Given the description of an element on the screen output the (x, y) to click on. 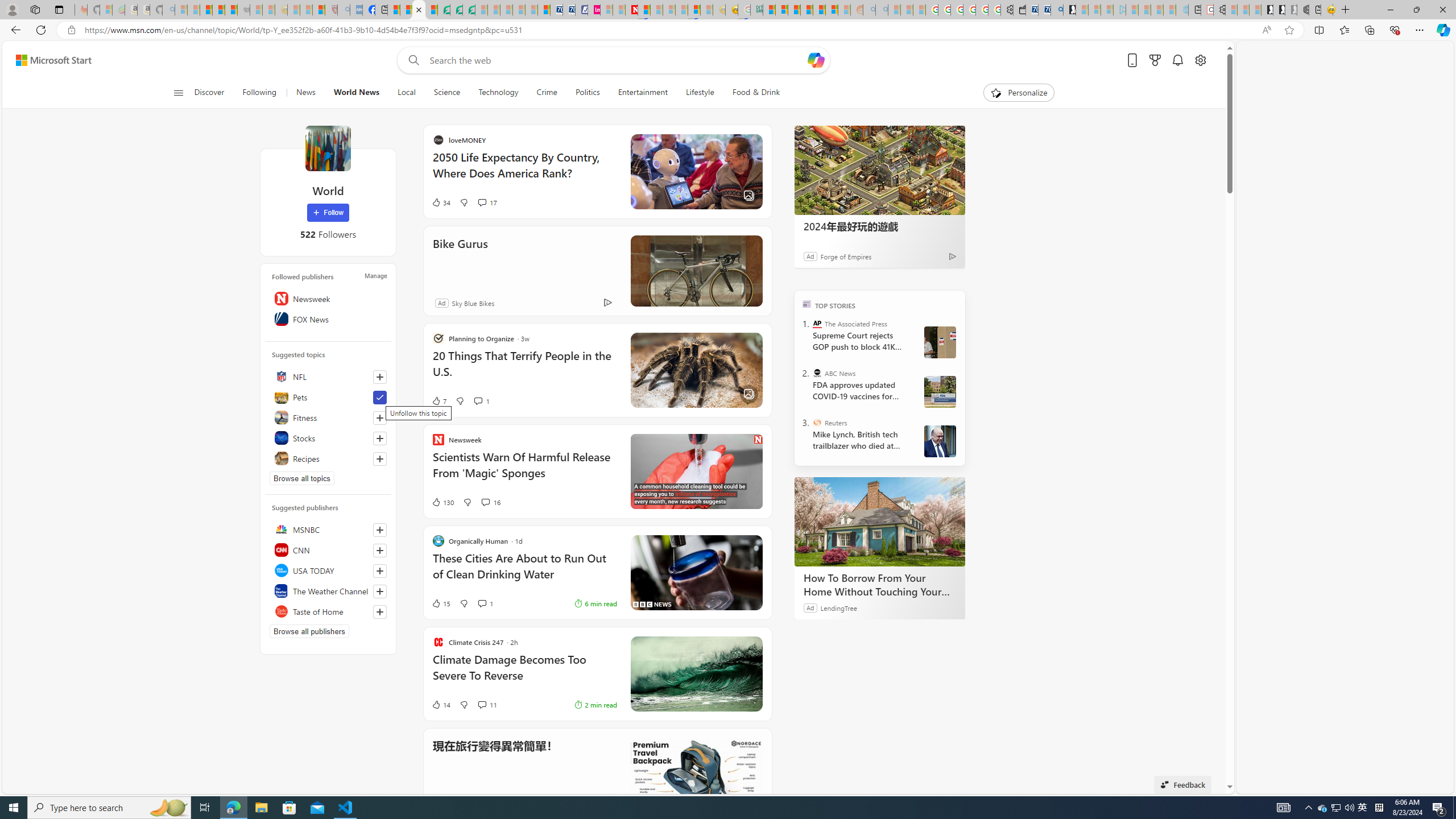
Taste of Home (327, 610)
ABC News (816, 372)
View comments 17 Comment (591, 202)
Reuters (816, 422)
Bike Gurus (569, 259)
